Given the description of an element on the screen output the (x, y) to click on. 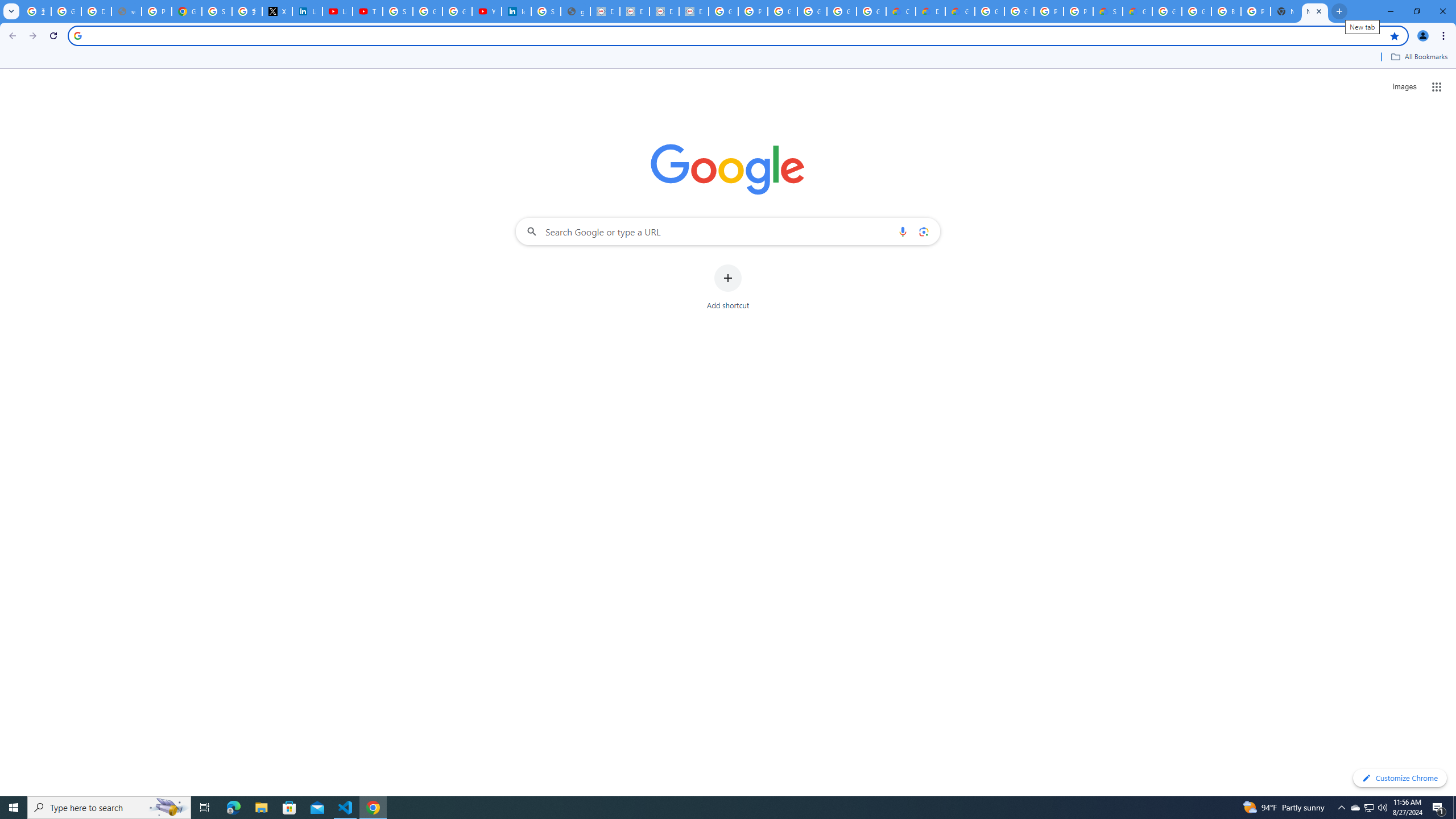
Search Google or type a URL (727, 230)
Bookmarks (728, 58)
Google Cloud Service Health (1137, 11)
Privacy Help Center - Policies Help (156, 11)
X (277, 11)
Search by image (922, 230)
Search by voice (902, 230)
